Given the description of an element on the screen output the (x, y) to click on. 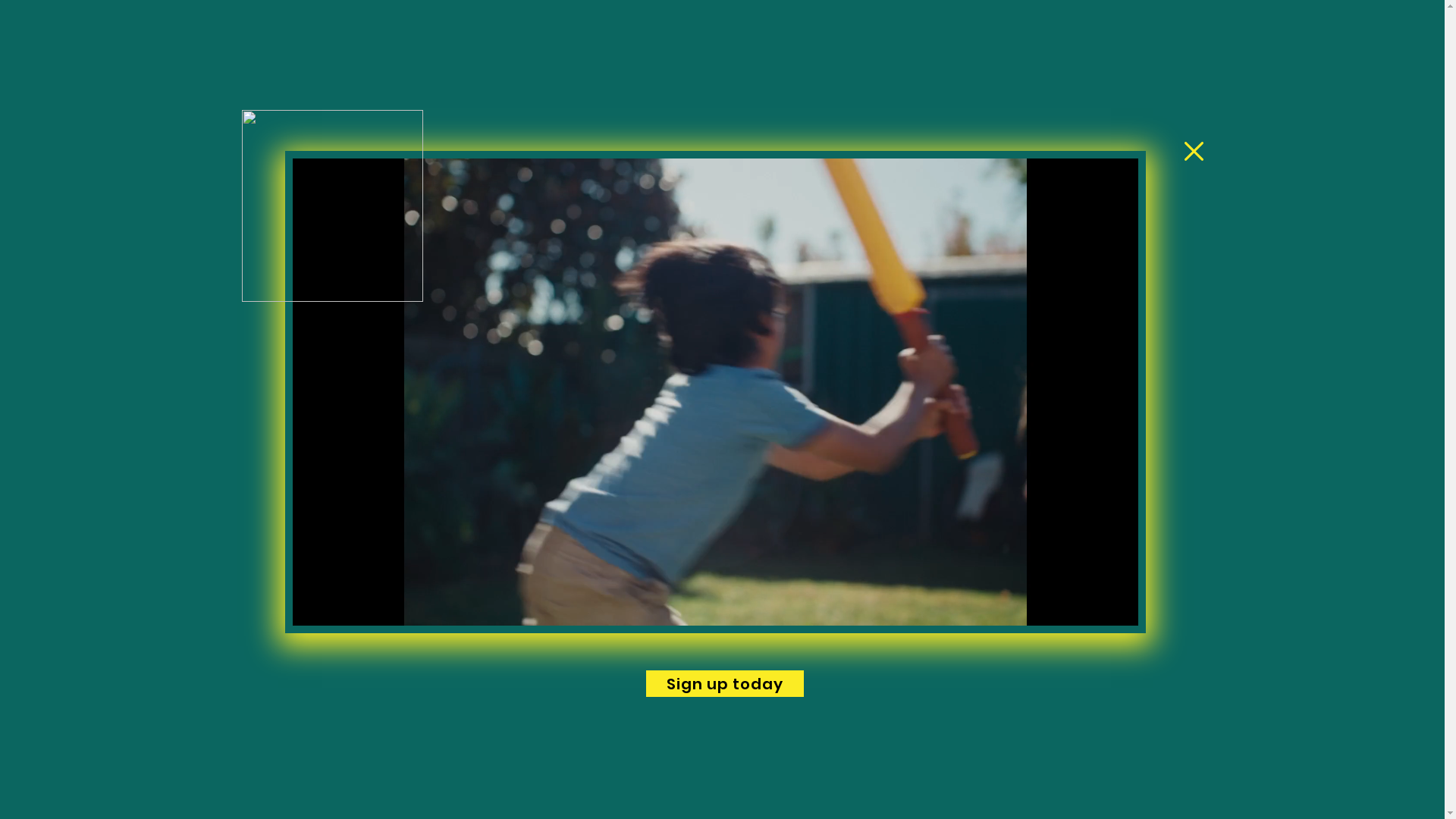
Sign up today Element type: text (724, 683)
Back to site Element type: hover (1193, 151)
cricket-blast-375x375.png Element type: hover (332, 205)
Go home Element type: text (784, 290)
